Given the description of an element on the screen output the (x, y) to click on. 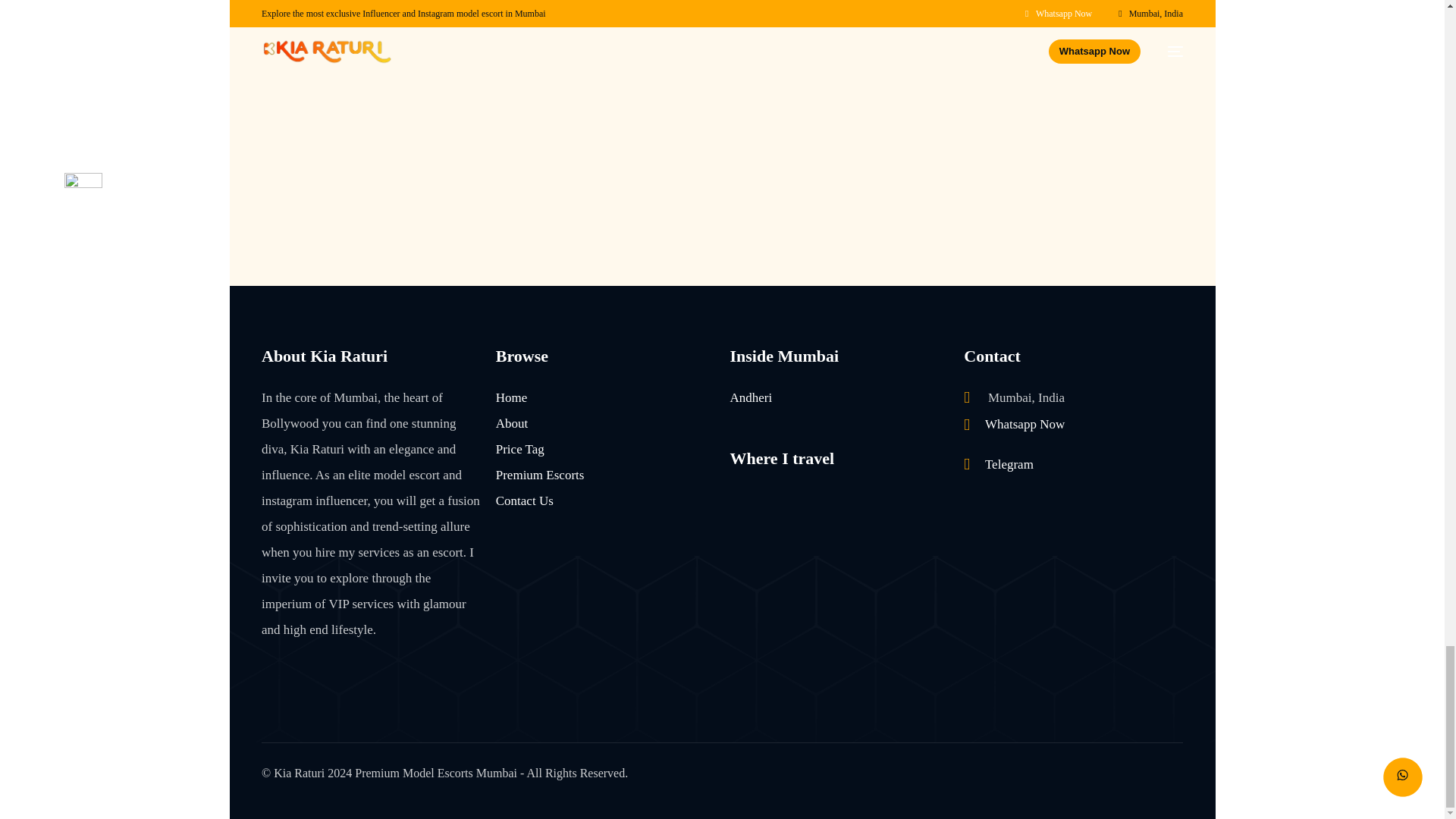
Home (511, 397)
Andheri (750, 397)
About (512, 423)
Whatsapp Now (1013, 425)
Premium Escorts (540, 474)
Price Tag (520, 449)
Telegram (998, 464)
Contact Us (524, 500)
